Given the description of an element on the screen output the (x, y) to click on. 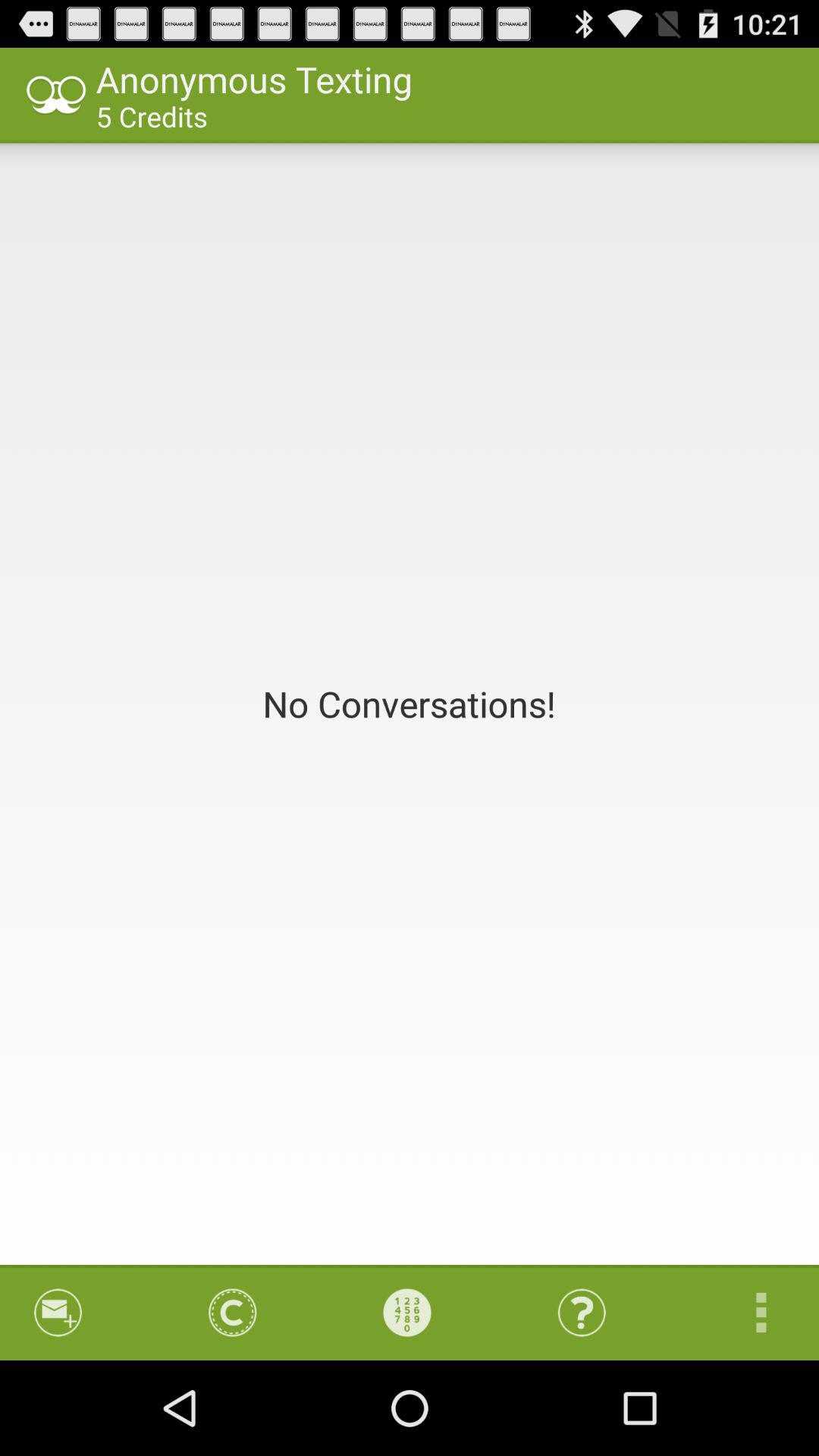
choose item at the bottom (407, 1312)
